Given the description of an element on the screen output the (x, y) to click on. 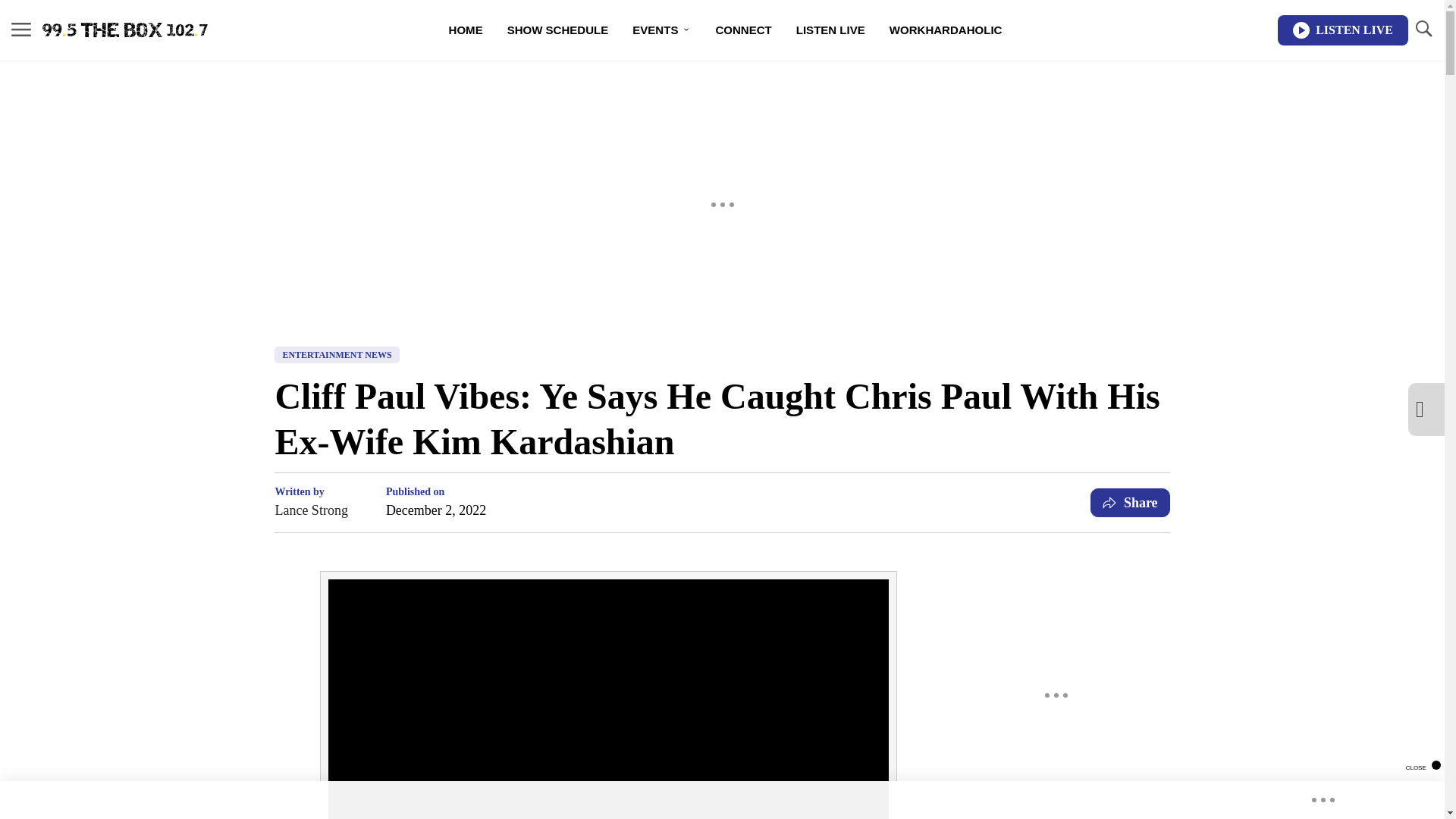
MENU (20, 30)
TOGGLE SEARCH (1422, 30)
Lance Strong (311, 509)
ENTERTAINMENT NEWS (336, 354)
CONNECT (743, 30)
LISTEN LIVE (830, 30)
WORKHARDAHOLIC (945, 30)
TOGGLE SEARCH (1422, 28)
HOME (465, 30)
EVENTS (661, 30)
